Given the description of an element on the screen output the (x, y) to click on. 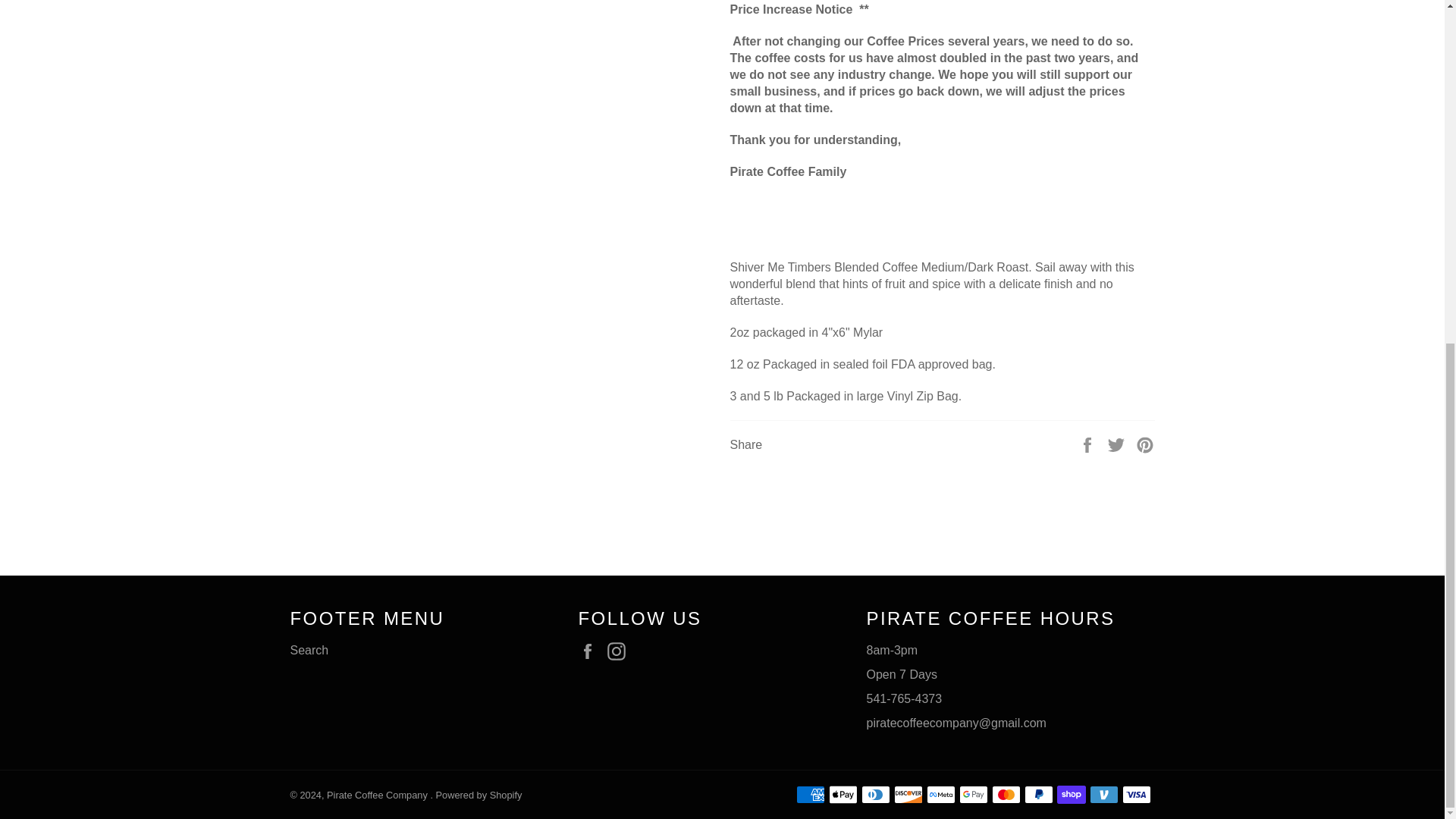
Share on Facebook (1088, 443)
Powered by Shopify (478, 794)
Share on Facebook (1088, 443)
Pin on Pinterest (1144, 443)
Instagram (620, 651)
Pirate Coffee Company  on Facebook (591, 651)
Tweet on Twitter (1117, 443)
Pin on Pinterest (1144, 443)
Facebook (591, 651)
Pirate Coffee Company  on Instagram (620, 651)
Search (309, 649)
Pirate Coffee Company (377, 794)
Tweet on Twitter (1117, 443)
